Given the description of an element on the screen output the (x, y) to click on. 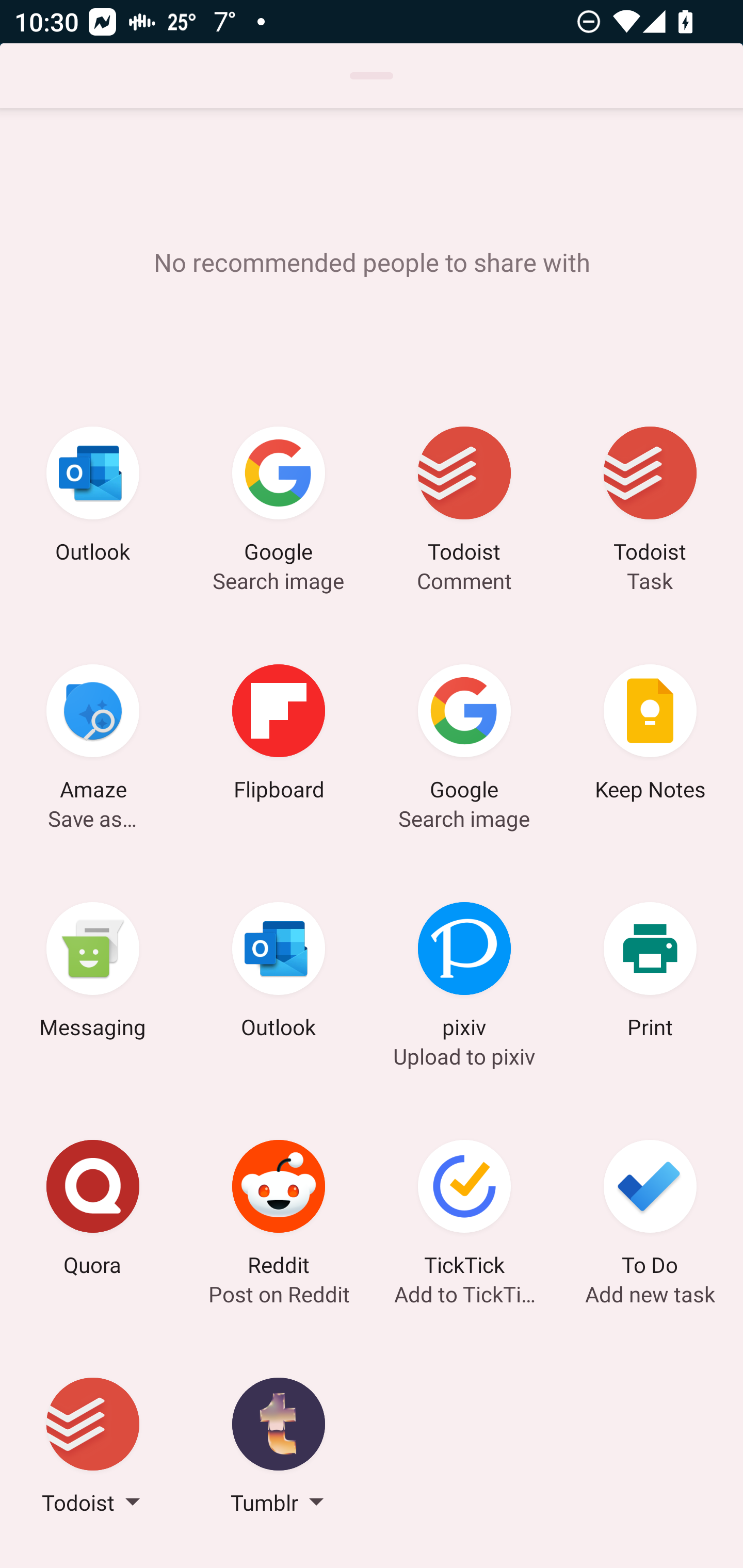
Outlook (92, 497)
Google Search image (278, 497)
Todoist Comment (464, 497)
Todoist Task (650, 497)
Amaze Save as… (92, 735)
Flipboard (278, 735)
Google Search image (464, 735)
Keep Notes (650, 735)
Messaging (92, 973)
Outlook (278, 973)
pixiv Upload to pixiv (464, 973)
Print (650, 973)
Quora (92, 1210)
Reddit Post on Reddit (278, 1210)
TickTick Add to TickTick (464, 1210)
To Do Add new task (650, 1210)
Todoist (92, 1448)
Tumblr (278, 1448)
